Given the description of an element on the screen output the (x, y) to click on. 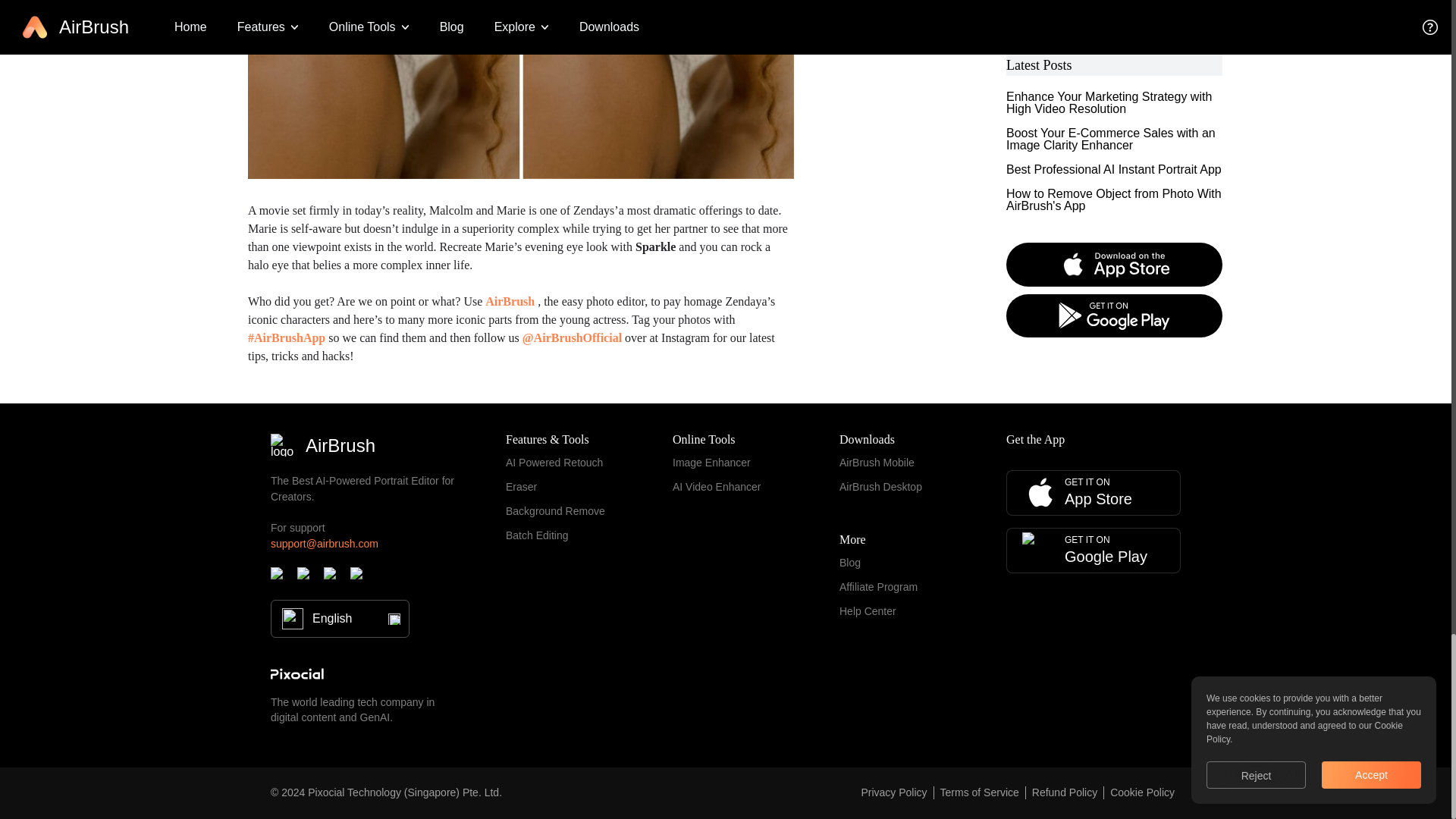
Twitter (359, 575)
Facebook (331, 575)
TikTok (279, 575)
AirBrush (509, 300)
Instagram (305, 575)
